Given the description of an element on the screen output the (x, y) to click on. 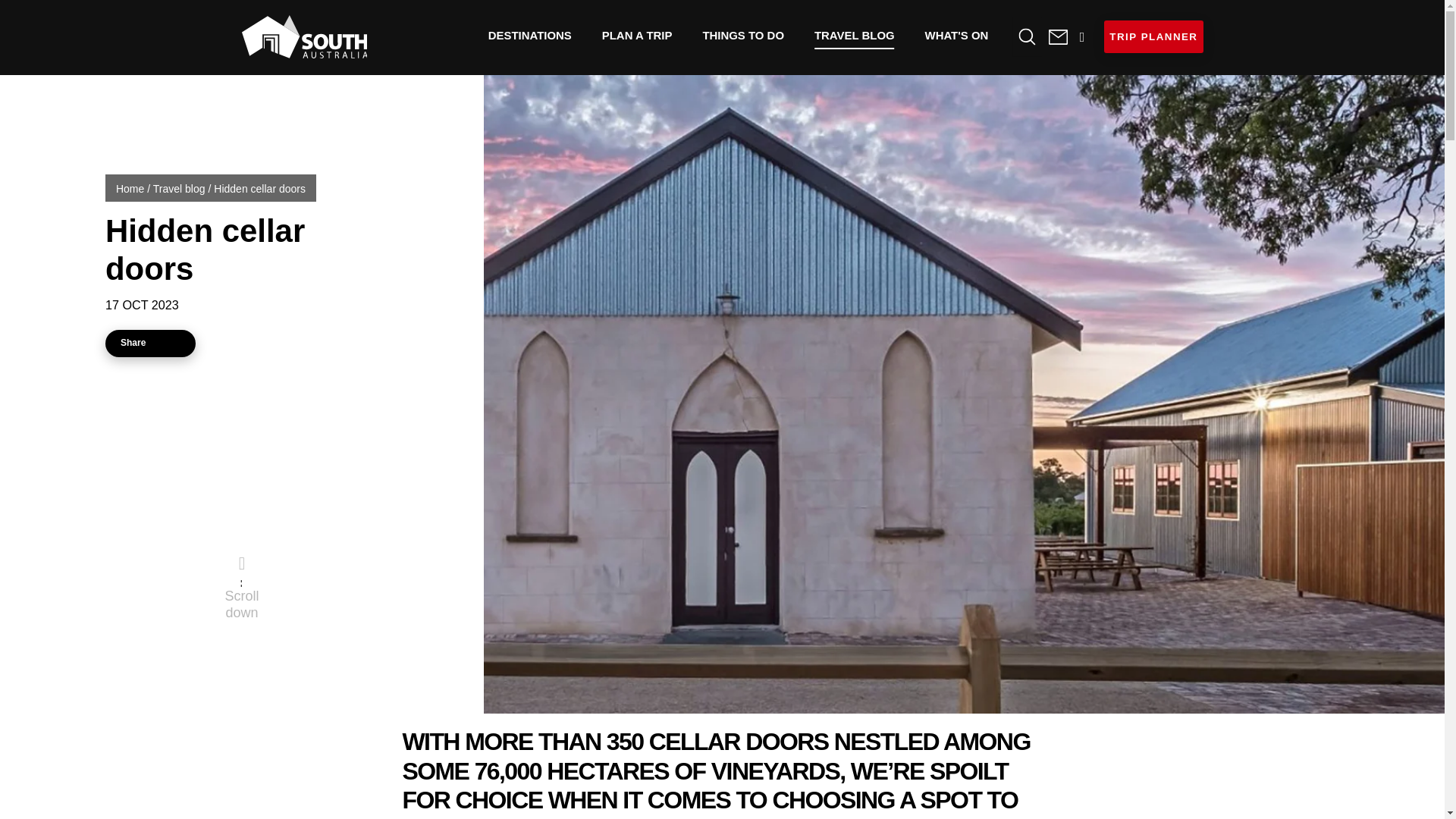
Scroll down (241, 584)
Travel blog (854, 34)
Destinations (529, 34)
Plan a trip (636, 34)
What's on (957, 34)
WHAT'S ON (957, 34)
Scroll down (241, 599)
TRIP PLANNER (1152, 36)
TRAVEL BLOG (854, 34)
DESTINATIONS (529, 34)
